Given the description of an element on the screen output the (x, y) to click on. 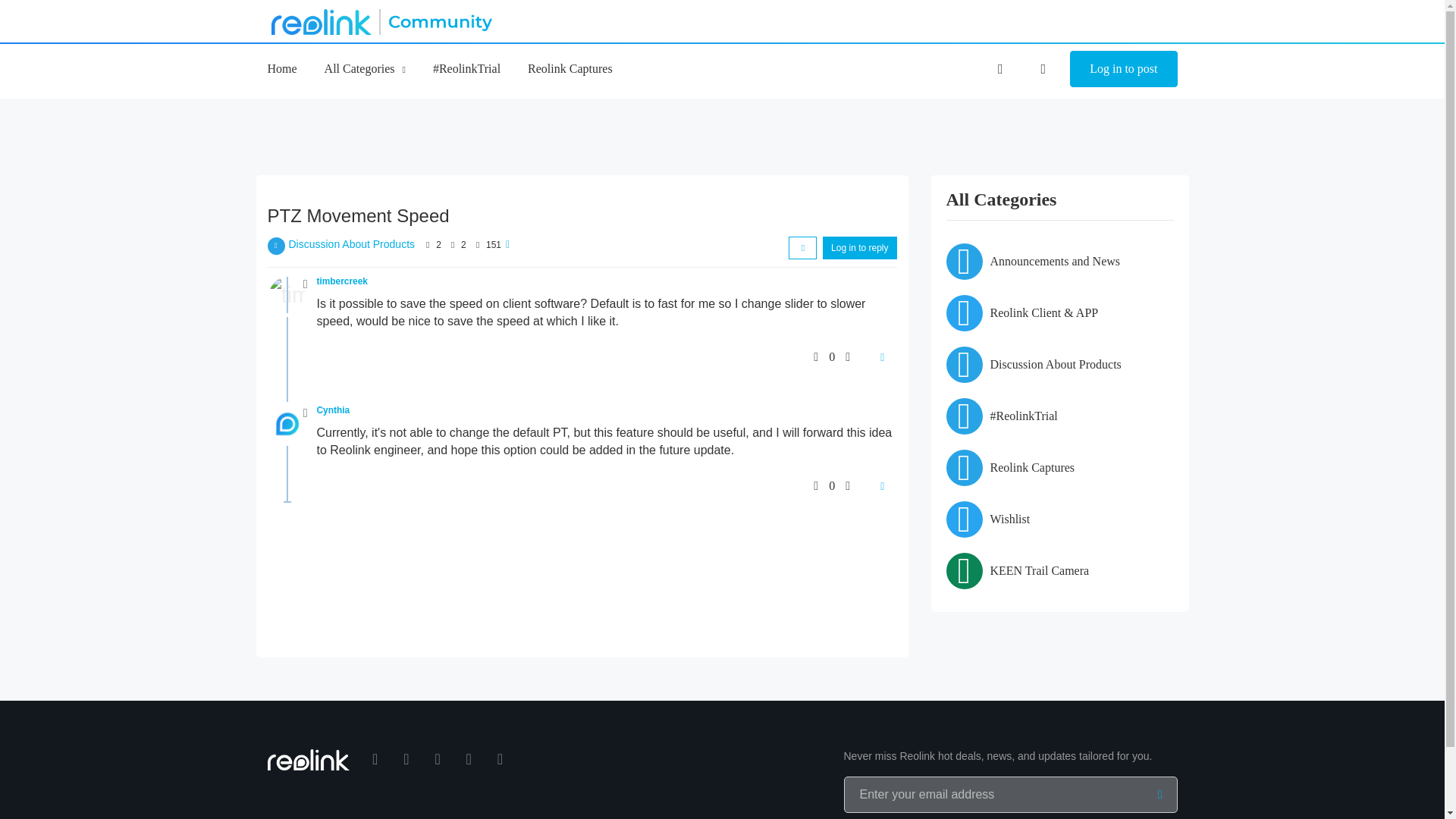
Views (477, 244)
All Categories (365, 68)
Home (281, 68)
151 (493, 244)
Log in to post (1123, 68)
Log in to reply (859, 247)
Discussion About Products (351, 244)
Posters (427, 244)
Posts (452, 244)
Sort by (802, 247)
timbercreek (342, 281)
Reolink Captures (569, 68)
